Given the description of an element on the screen output the (x, y) to click on. 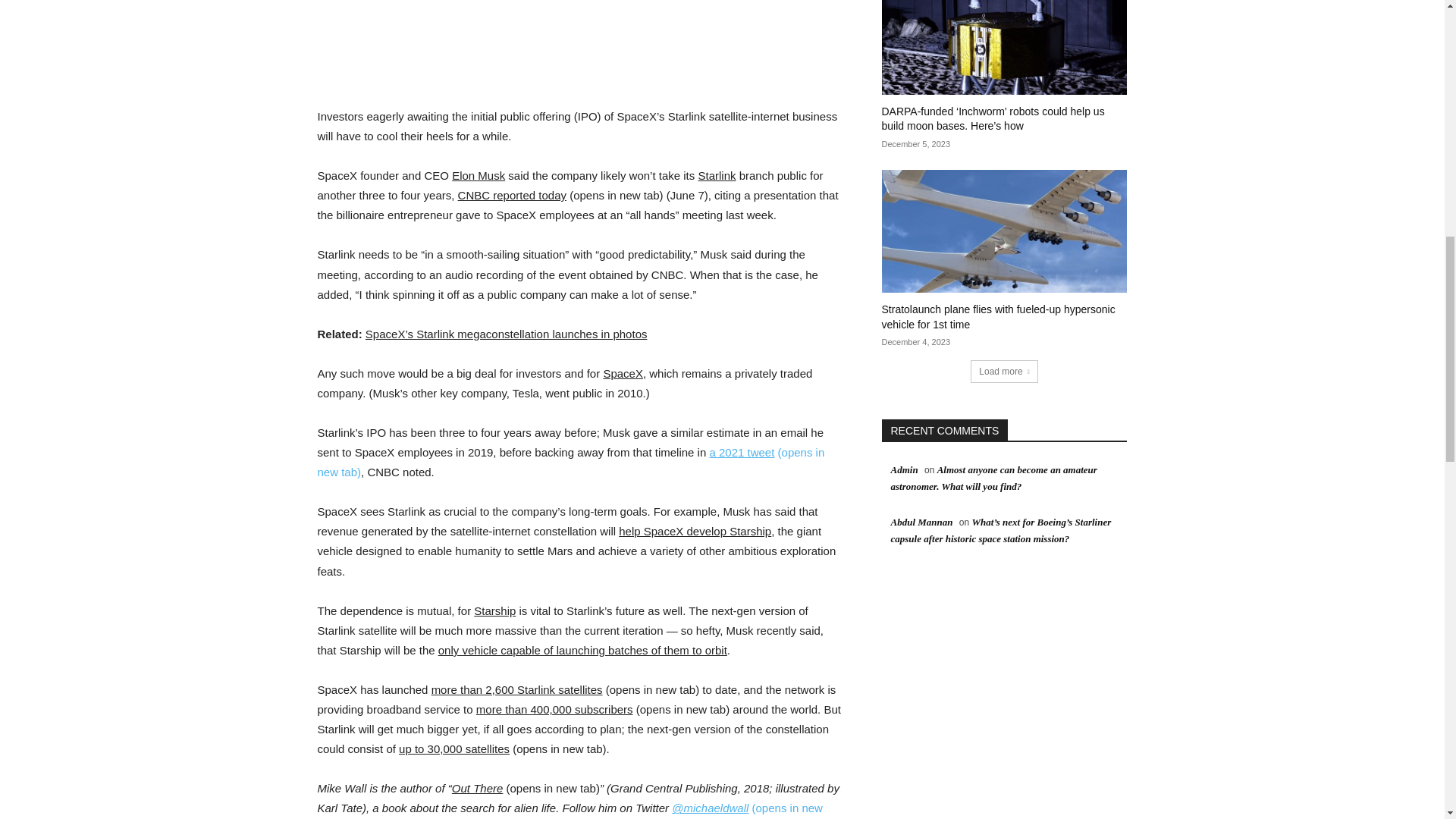
PZDRzAF3YK9BzYCmgWL3sE-1200-80.jpg (580, 35)
